Given the description of an element on the screen output the (x, y) to click on. 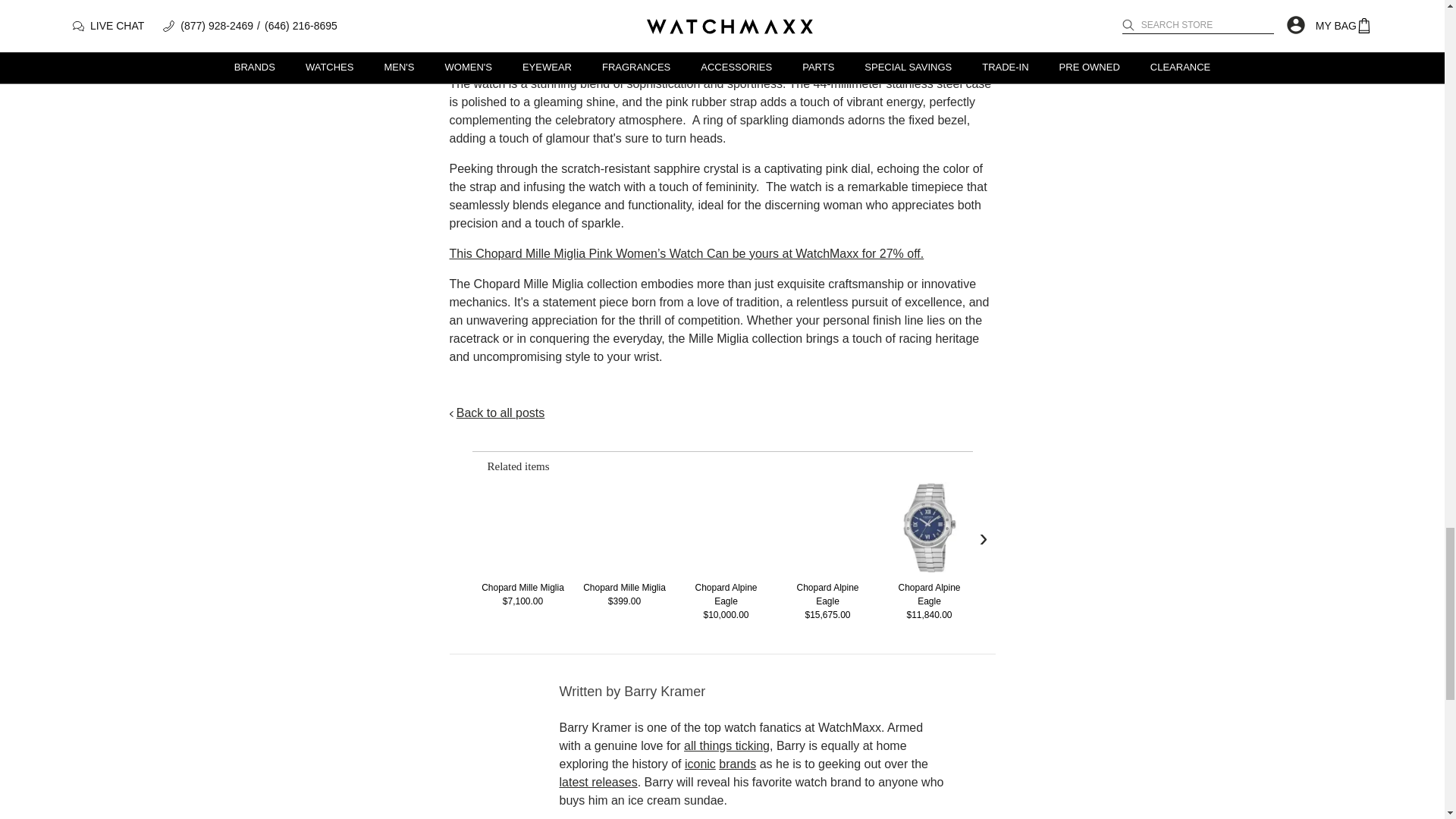
all things ticking (727, 745)
brands (737, 764)
Back to all posts (500, 413)
iconic (700, 764)
298600-3001 (929, 527)
latest releases (598, 782)
